Given the description of an element on the screen output the (x, y) to click on. 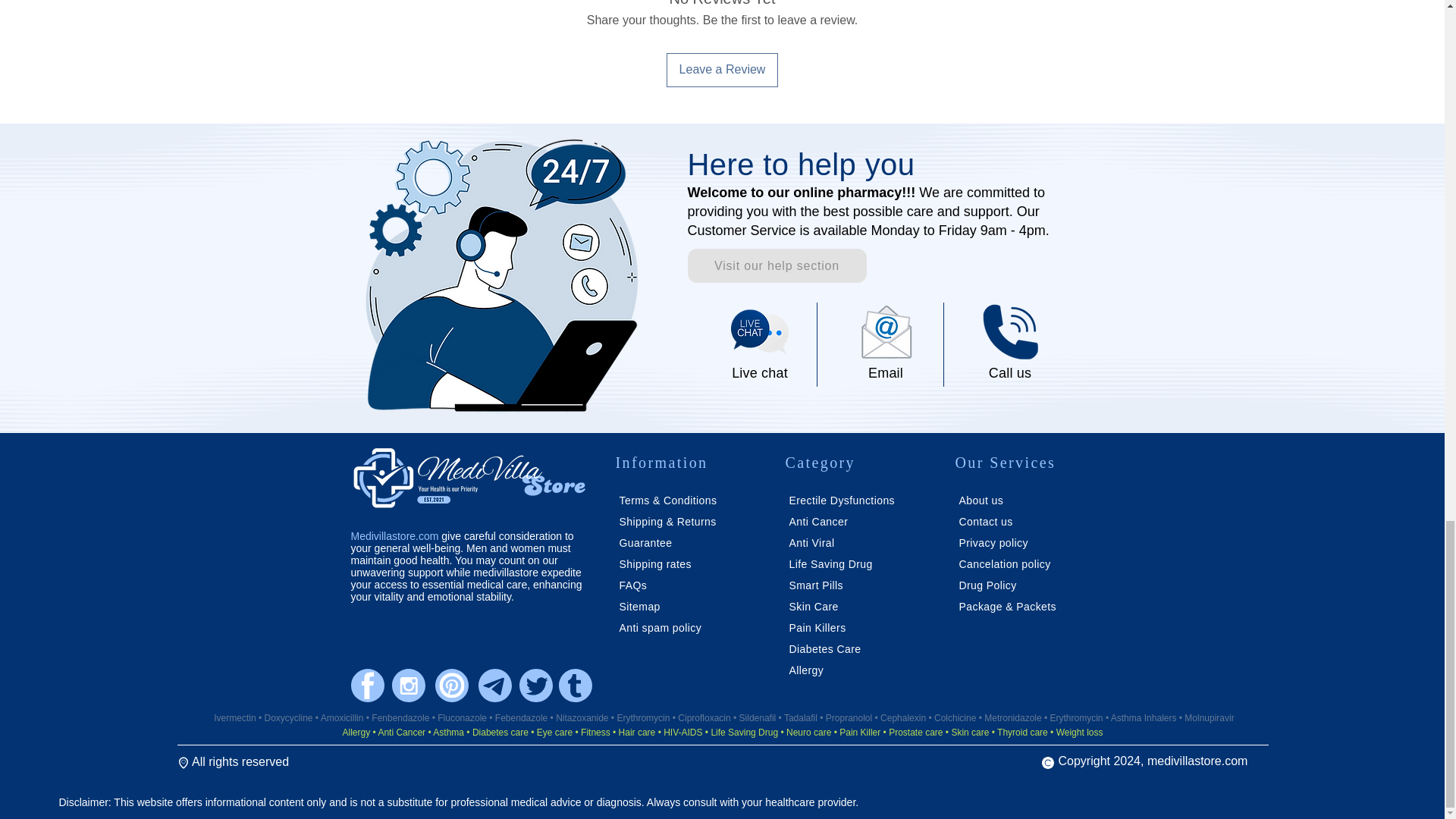
Pain Killers (817, 627)
Medivillastore.com (394, 535)
Erectile Dysfunctions (842, 500)
Life Saving Drug (830, 563)
Anti Cancer (818, 521)
Diabetes Care (824, 648)
FAQs  (633, 585)
Anti spam policy (659, 627)
Visit our help section (776, 265)
Guarantee (644, 542)
